Given the description of an element on the screen output the (x, y) to click on. 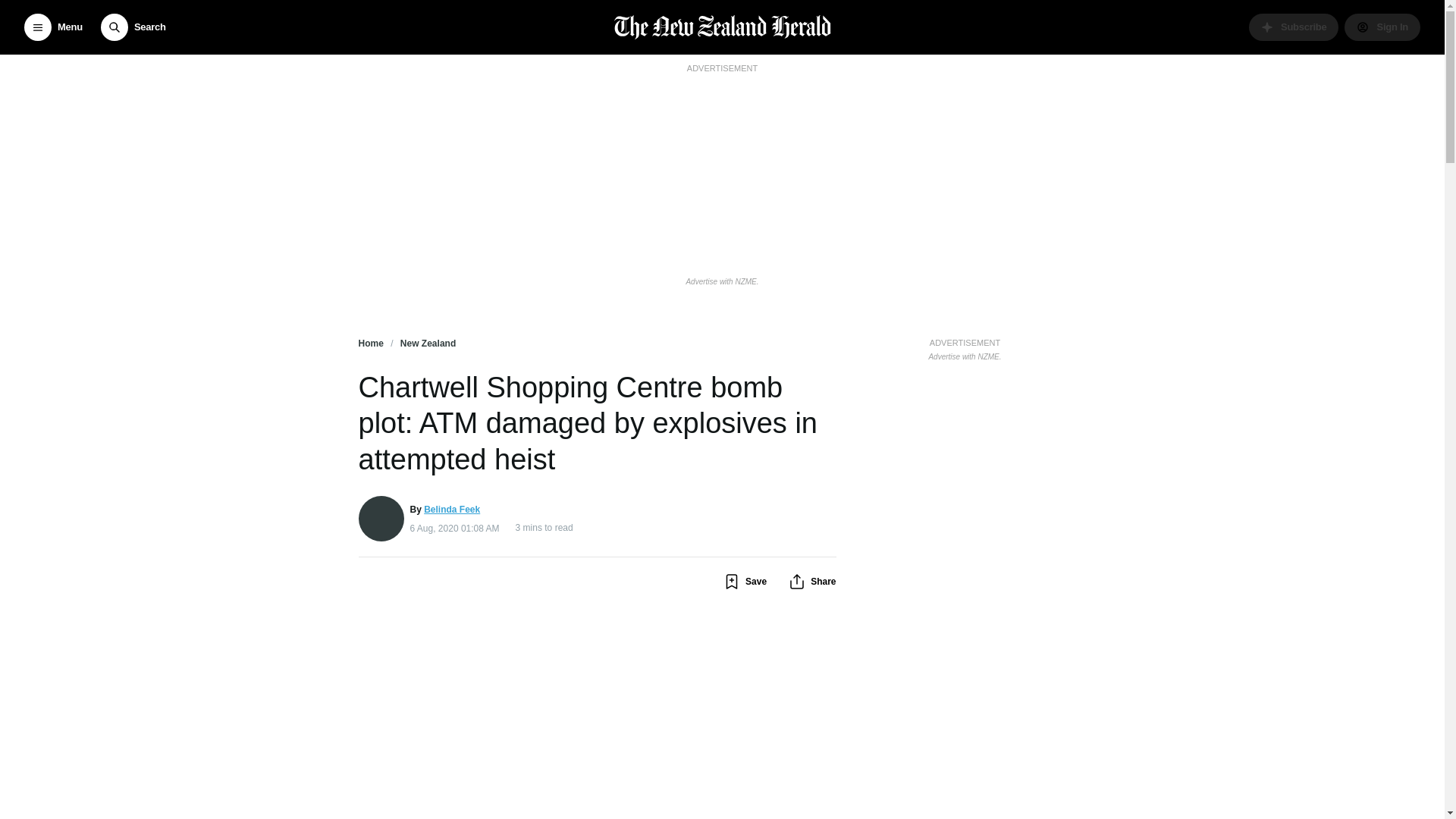
Search (132, 26)
Manage your account (1382, 26)
Subscribe (1294, 26)
Sign In (1382, 26)
Menu (53, 26)
